Given the description of an element on the screen output the (x, y) to click on. 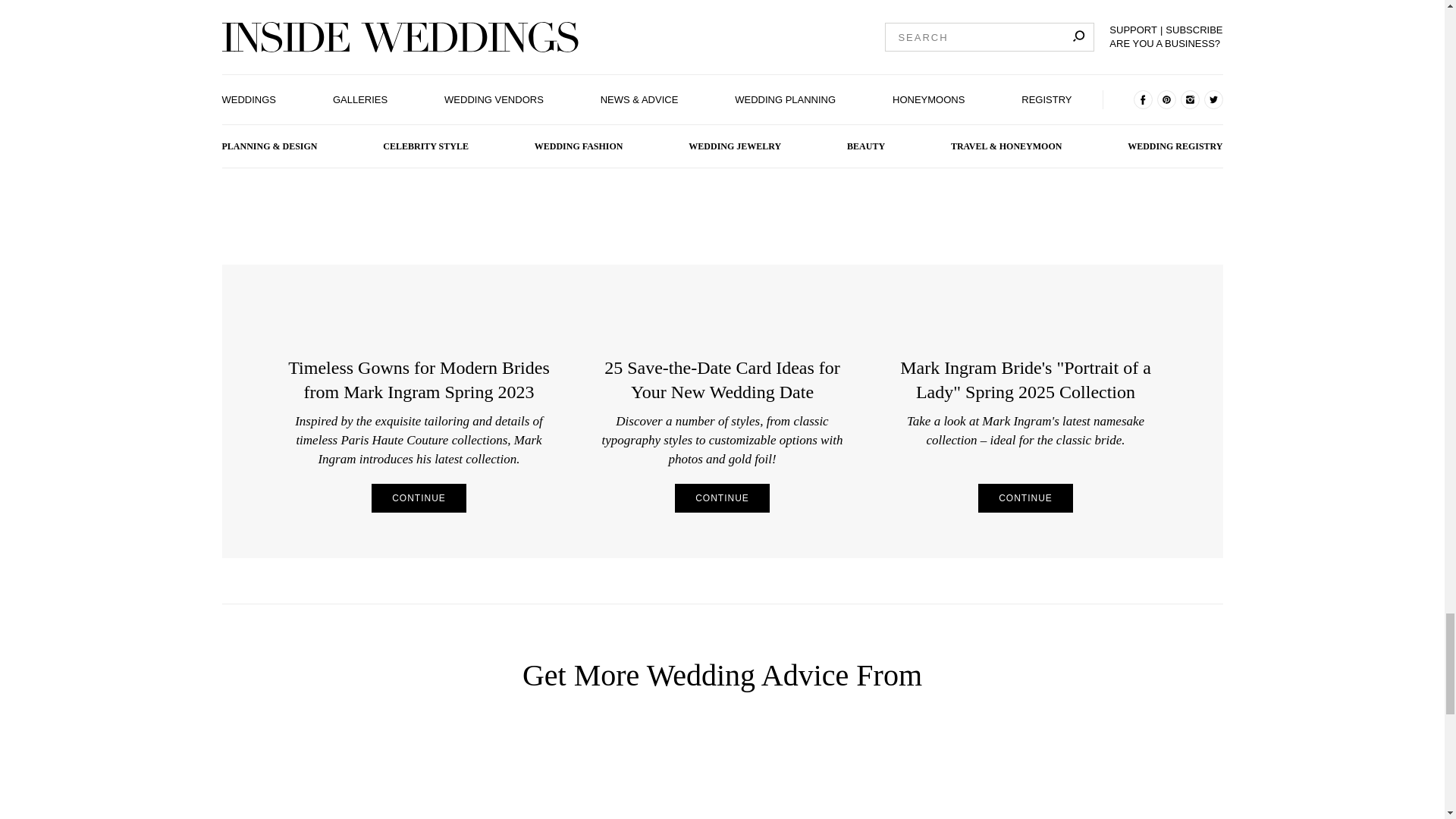
"Colette" Bridal Gown by Mark Ingram Bride Spring 2023 (418, 256)
Arroyo Terrace Wedding at The Lodge at Torrey Pines (459, 779)
Minted Save the Date Cards (722, 256)
"Portrait of a Lady" Spring 2025 Bridal Collection (1024, 256)
